Given the description of an element on the screen output the (x, y) to click on. 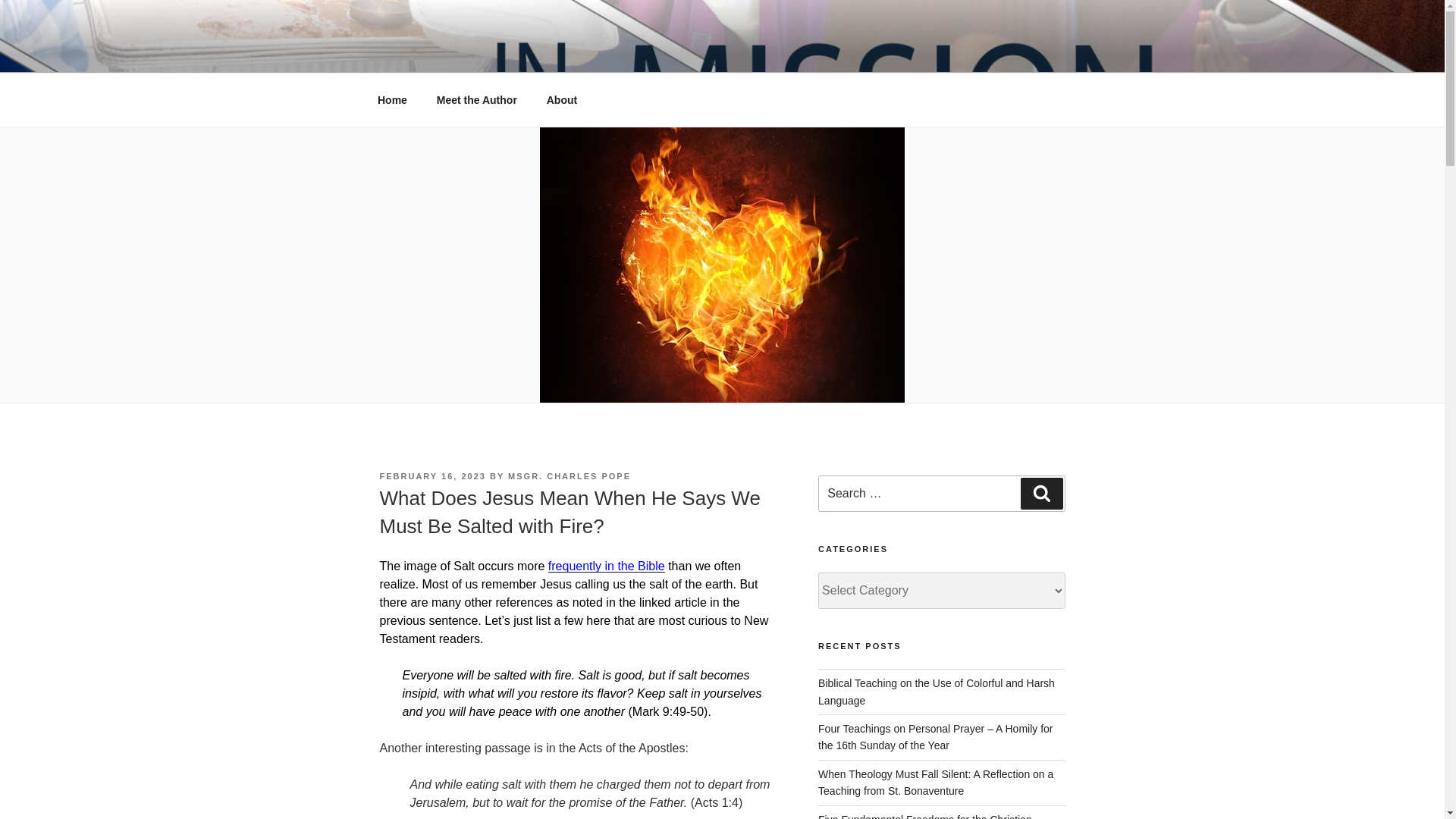
Search (1041, 493)
COMMUNITY IN MISSION (563, 52)
FEBRUARY 16, 2023 (431, 475)
About (560, 99)
Home (392, 99)
Meet the Author (476, 99)
MSGR. CHARLES POPE (569, 475)
frequently in the Bible (606, 565)
Biblical Teaching on the Use of Colorful and Harsh Language (936, 691)
